Given the description of an element on the screen output the (x, y) to click on. 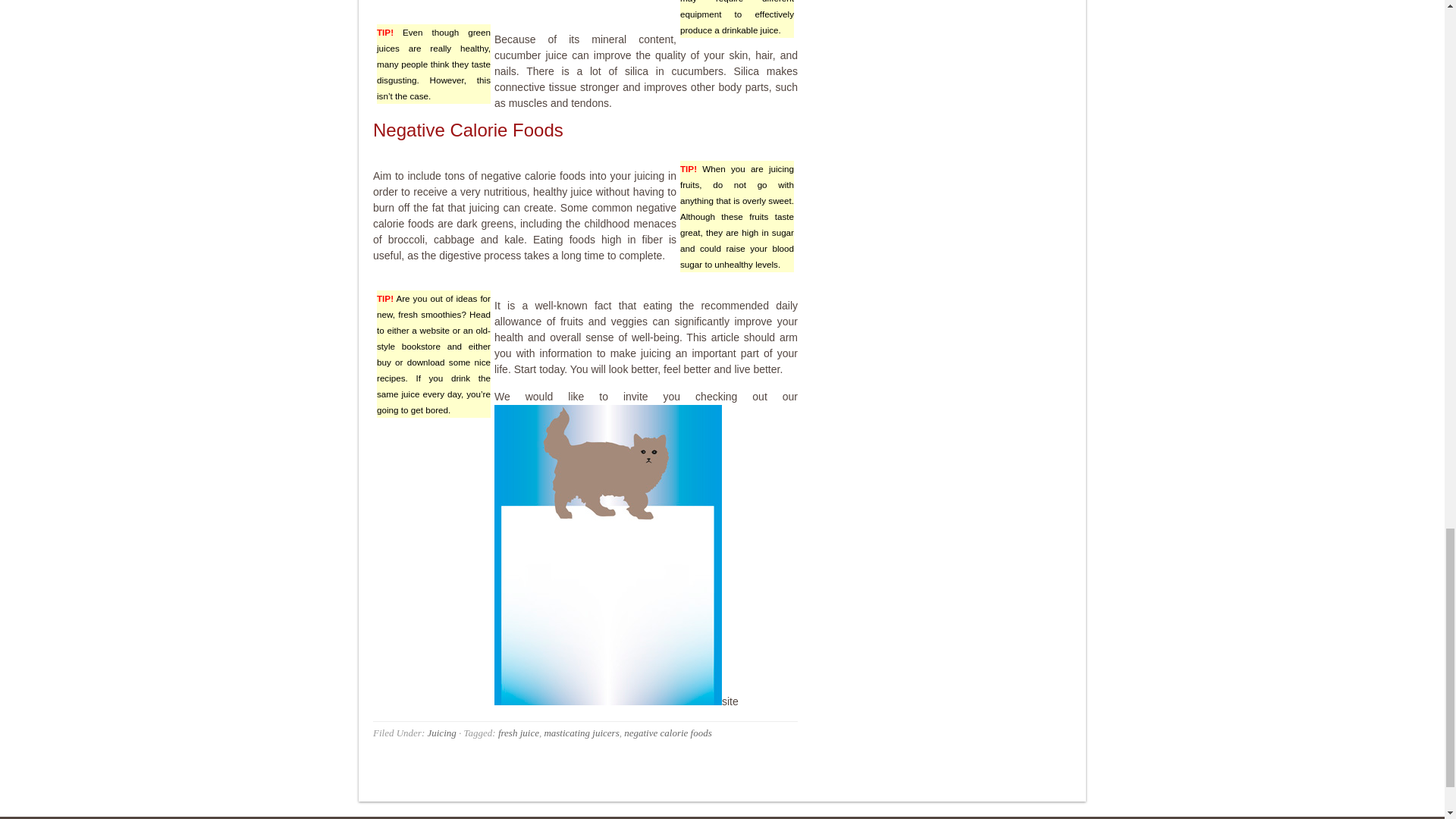
negative calorie foods (667, 732)
fresh juice (517, 732)
masticating juicers (580, 732)
Juicing (440, 732)
